Given the description of an element on the screen output the (x, y) to click on. 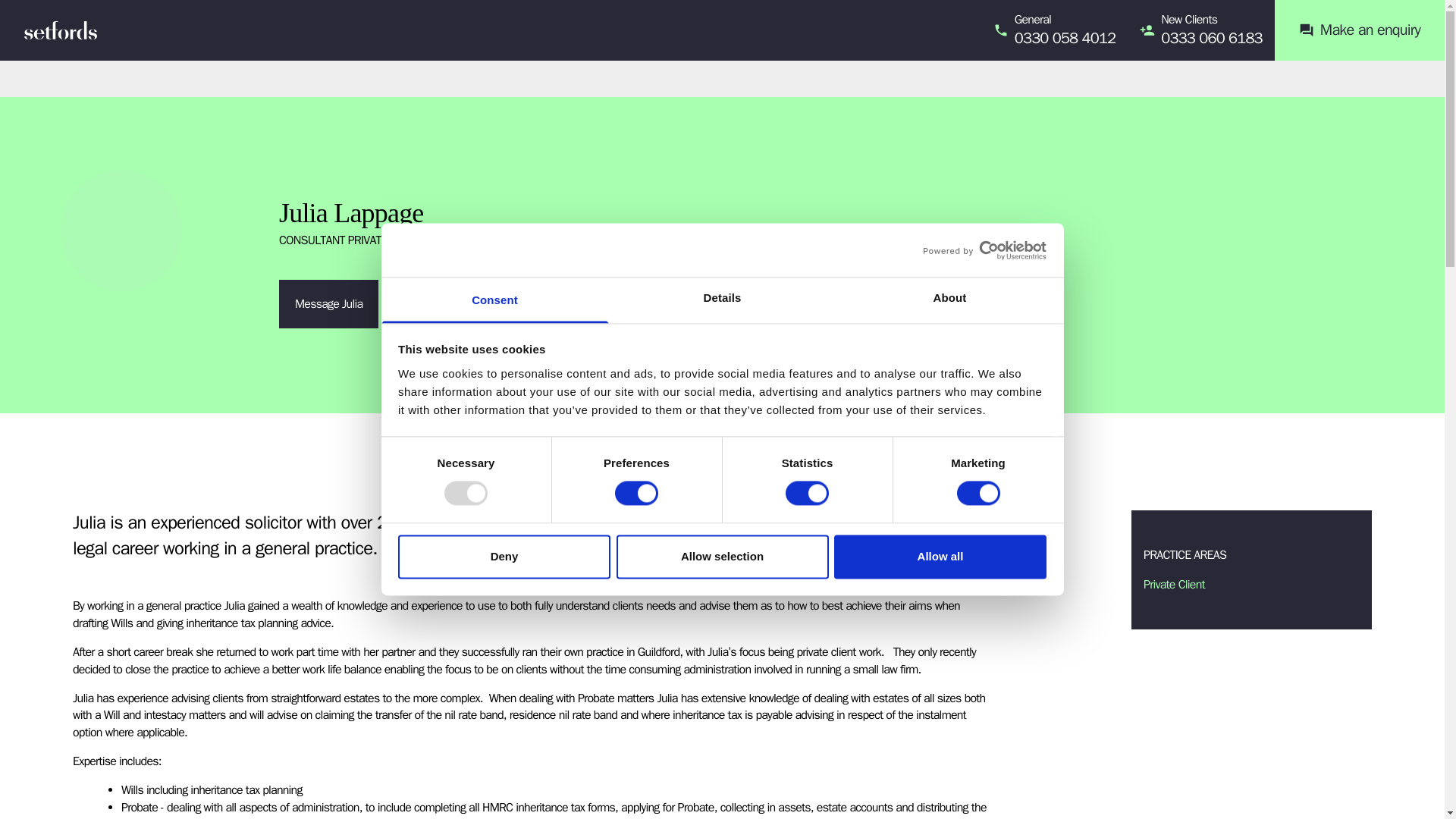
Consent (494, 299)
About (948, 299)
Details (721, 299)
